Given the description of an element on the screen output the (x, y) to click on. 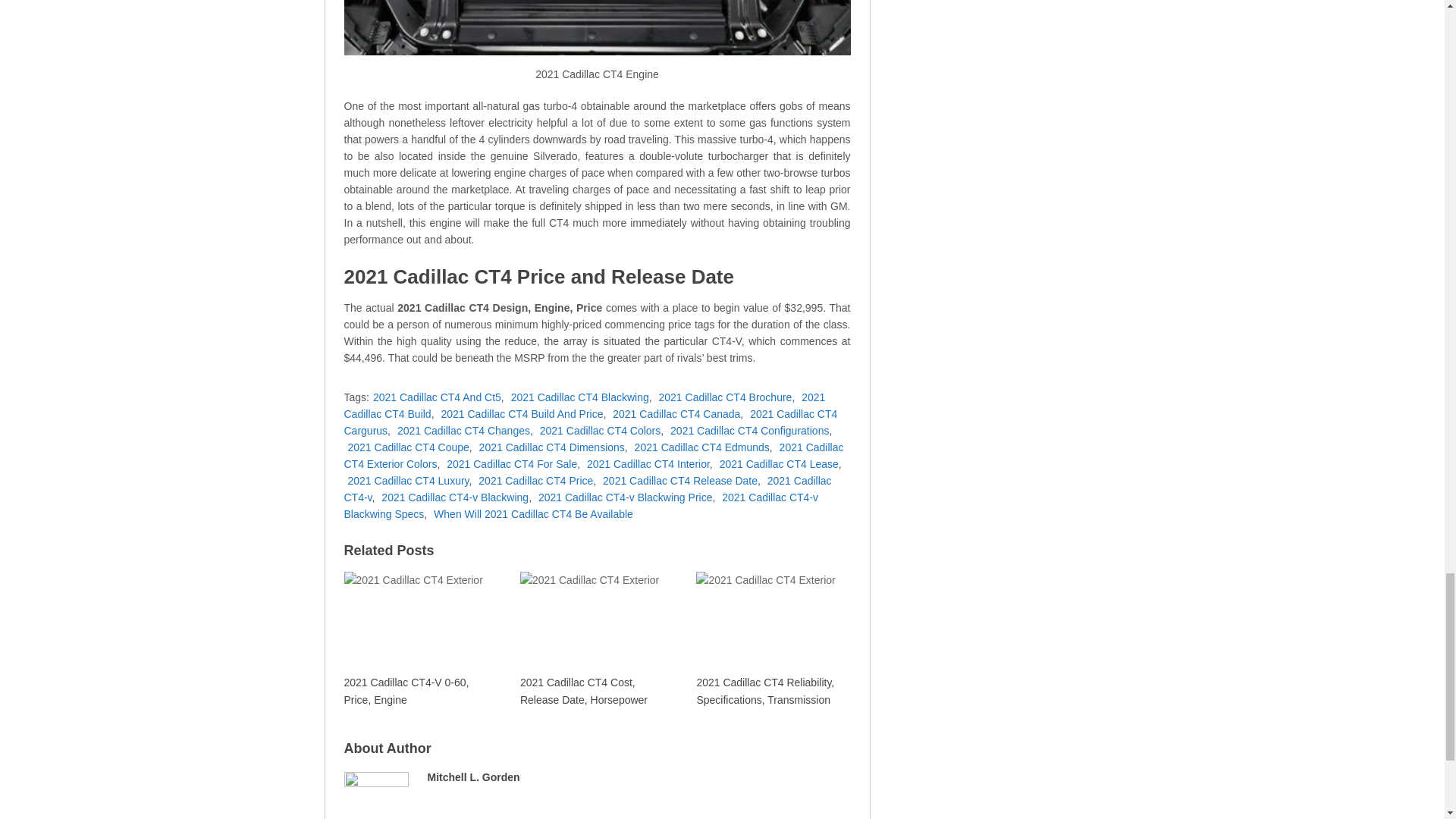
2021 Cadillac CT4 Canada (675, 413)
2021 Cadillac CT4 Changes (463, 430)
2021 Cadillac CT4 Configurations (748, 430)
2021 Cadillac CT4 Blackwing (580, 397)
2021 Cadillac CT4 And Ct5 (436, 397)
2021 Cadillac CT4 Cost, Release Date, Horsepower (595, 638)
2021 Cadillac CT4 Build (584, 405)
2021 Cadillac CT4 Reliability, Specifications, Transmission (771, 638)
2021 Cadillac CT4 Colors (600, 430)
2021 Cadillac CT4 Cargurus (590, 421)
